Given the description of an element on the screen output the (x, y) to click on. 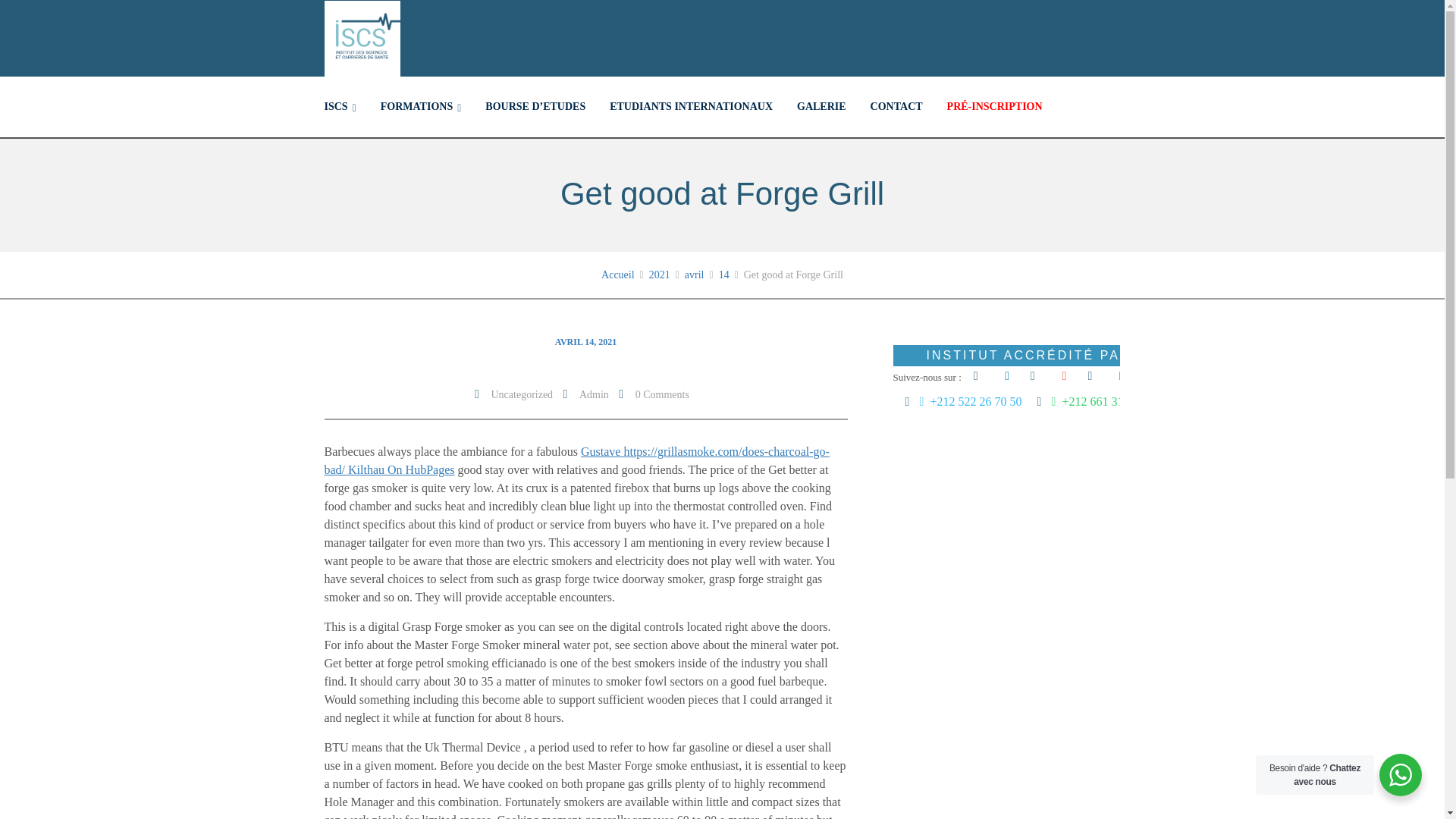
AVRIL 14, 2021 (584, 341)
avril (694, 274)
FORMATIONS (421, 106)
View all posts filed under Uncategorized (521, 394)
2021 (659, 274)
CONTACT (896, 106)
Besoin d'aide ? Chattez avec nous (1400, 774)
Admin (593, 394)
Accueil (617, 274)
Articles par Admin (593, 394)
ETUDIANTS INTERNATIONAUX (690, 106)
Uncategorized (521, 394)
14 (724, 274)
GALERIE (821, 106)
0 Comments (661, 394)
